Given the description of an element on the screen output the (x, y) to click on. 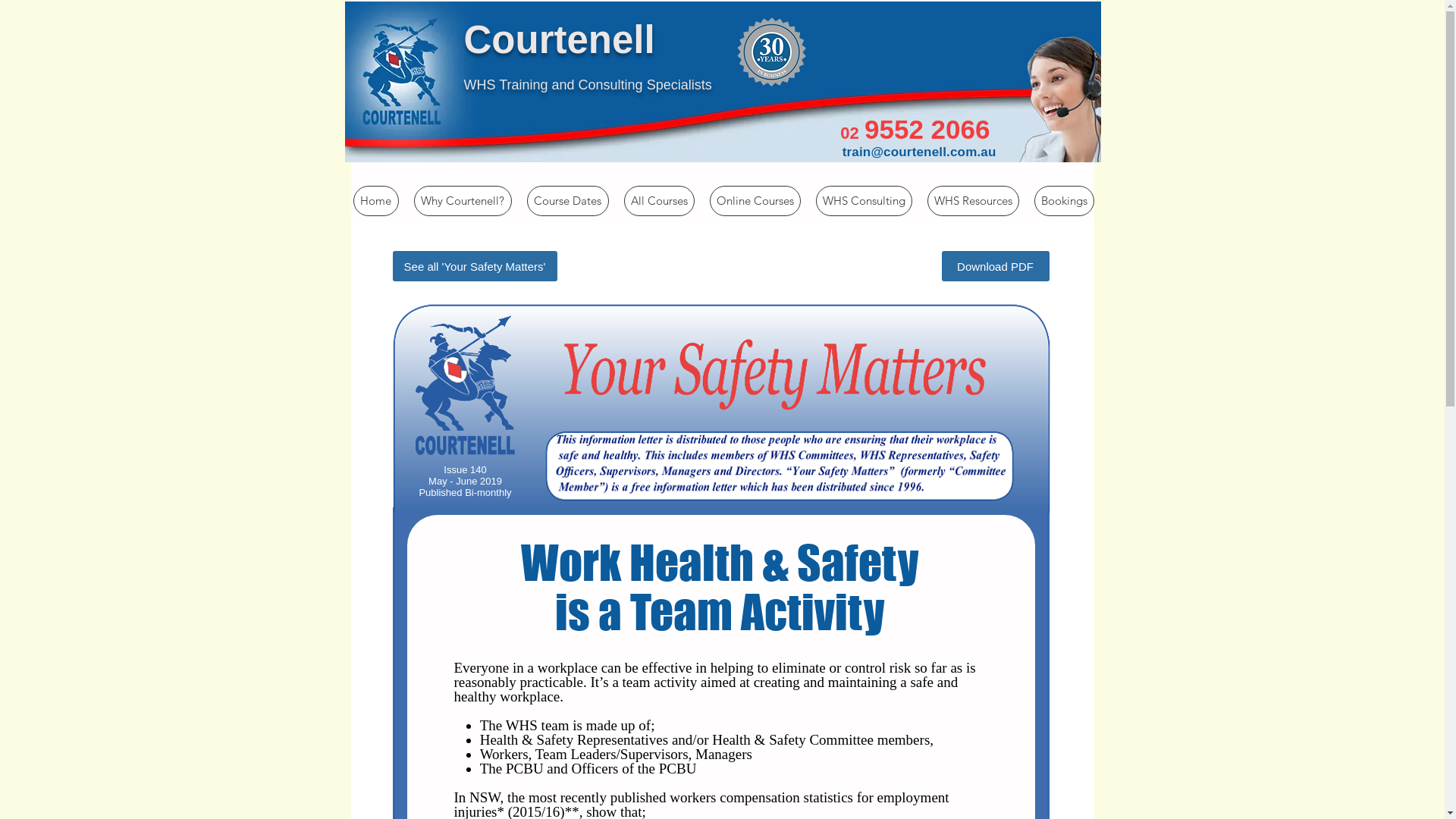
All Courses Element type: text (658, 200)
See all 'Your Safety Matters' Element type: text (474, 266)
Why Courtenell? Element type: text (462, 200)
Home Element type: text (375, 200)
Site Search Element type: hover (909, 41)
Bookings Element type: text (1064, 200)
W Element type: text (470, 84)
Download PDF Element type: text (995, 266)
Courtenell Element type: text (559, 39)
train@courtenell.com.au Element type: text (919, 151)
WHS Resources Element type: text (972, 200)
Online Courses Element type: text (754, 200)
WHS Consulting Element type: text (863, 200)
Course Dates Element type: text (567, 200)
